Given the description of an element on the screen output the (x, y) to click on. 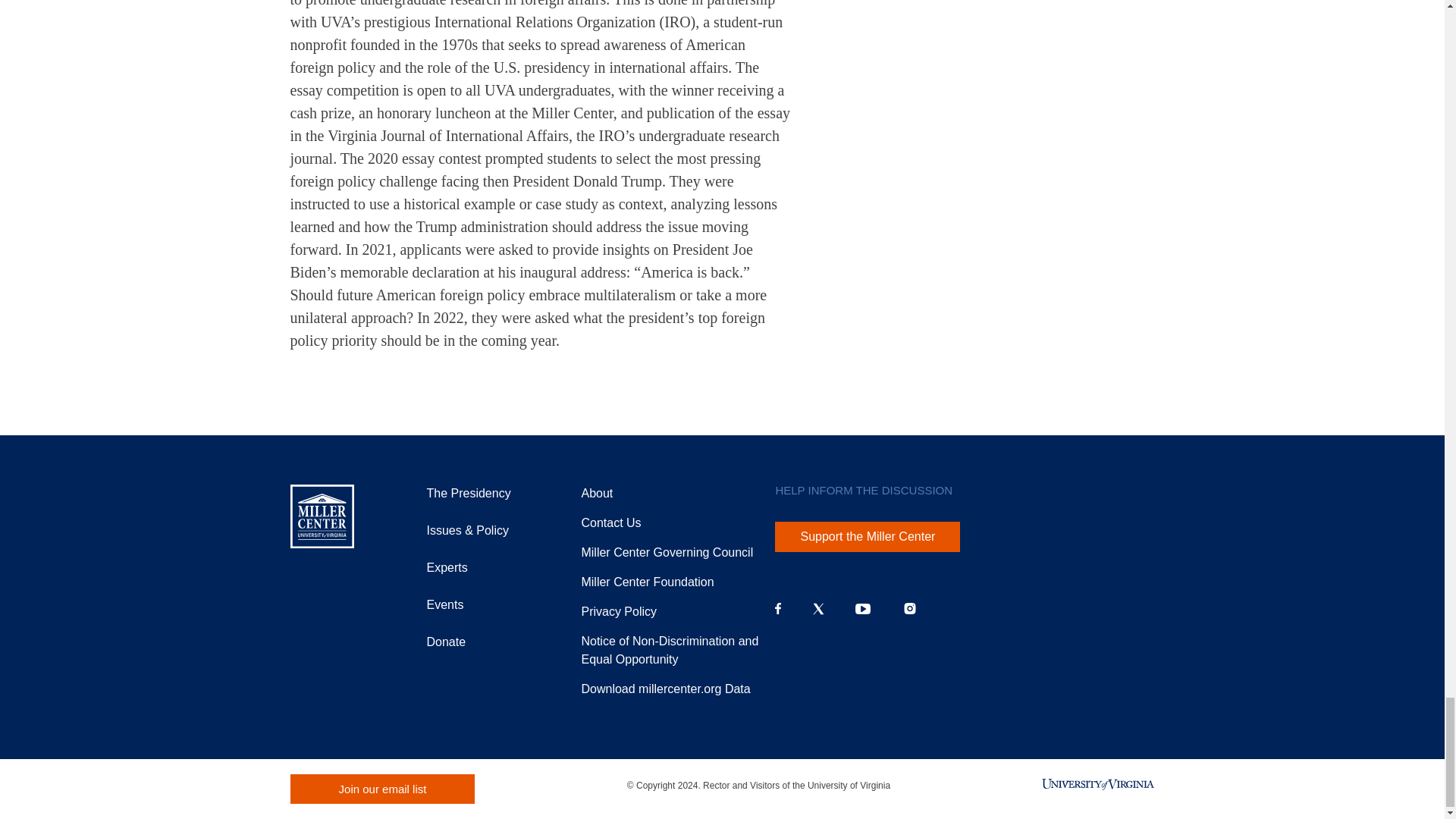
Home (321, 515)
Miller Center Web Privacy Policy (618, 611)
Support (646, 581)
